Given the description of an element on the screen output the (x, y) to click on. 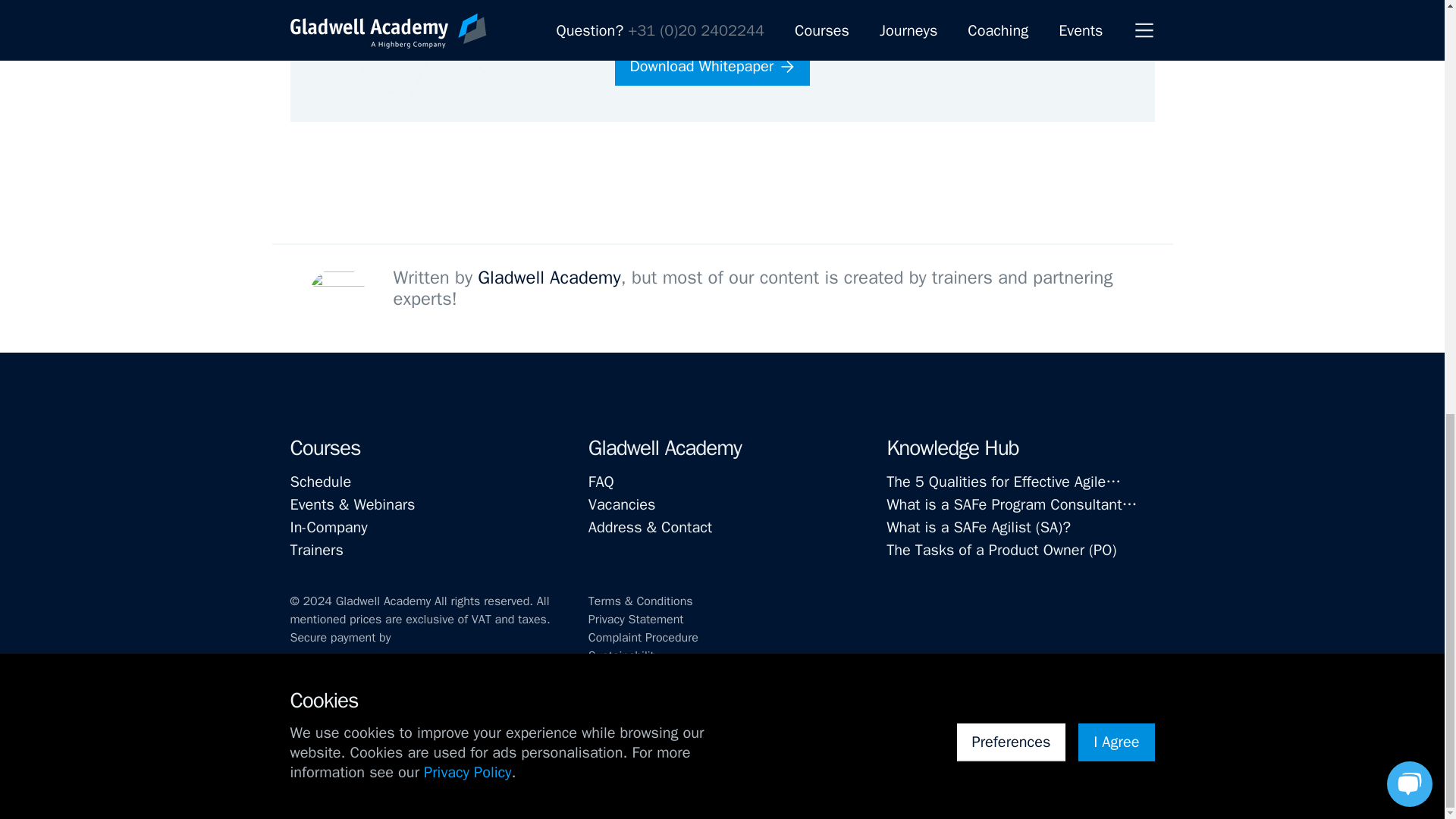
Trainers (423, 549)
Gladwell Academy (664, 447)
Schedule (423, 481)
In-Company (423, 527)
Courses (324, 447)
Vacancies (722, 504)
Download Whitepaper (711, 66)
FAQ (722, 481)
